Given the description of an element on the screen output the (x, y) to click on. 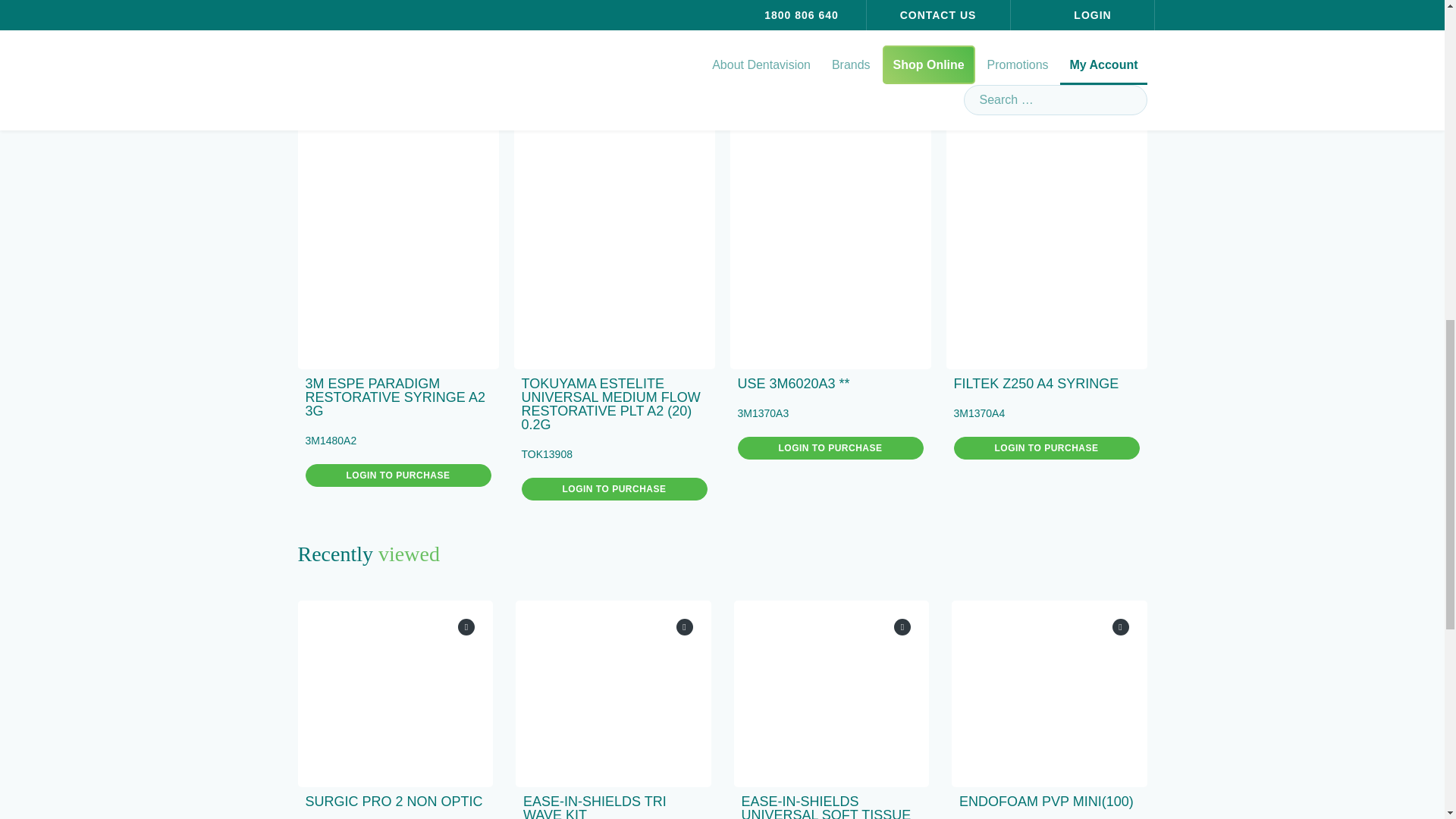
LOGIN TO PURCHASE (829, 447)
LOGIN TO PURCHASE (1046, 447)
LOGIN TO PURCHASE (397, 475)
LOGIN TO PURCHASE (614, 488)
